Given the description of an element on the screen output the (x, y) to click on. 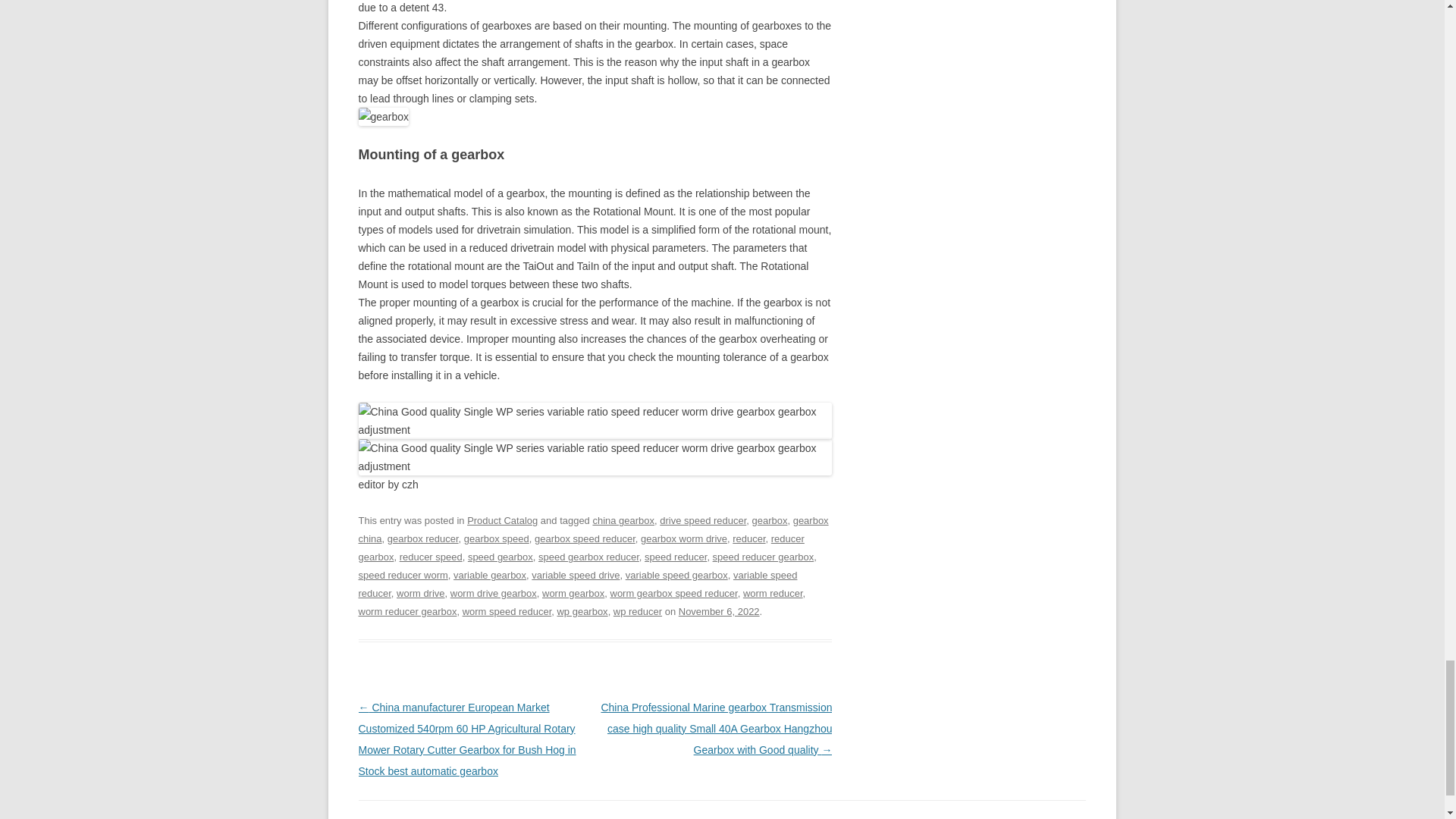
china gearbox (622, 520)
variable gearbox (488, 574)
reducer speed (430, 556)
speed reducer (675, 556)
gearbox reducer (422, 538)
Product Catalog (502, 520)
gearbox speed (496, 538)
variable speed drive (575, 574)
worm gearbox (572, 593)
reducer gearbox (580, 547)
